Given the description of an element on the screen output the (x, y) to click on. 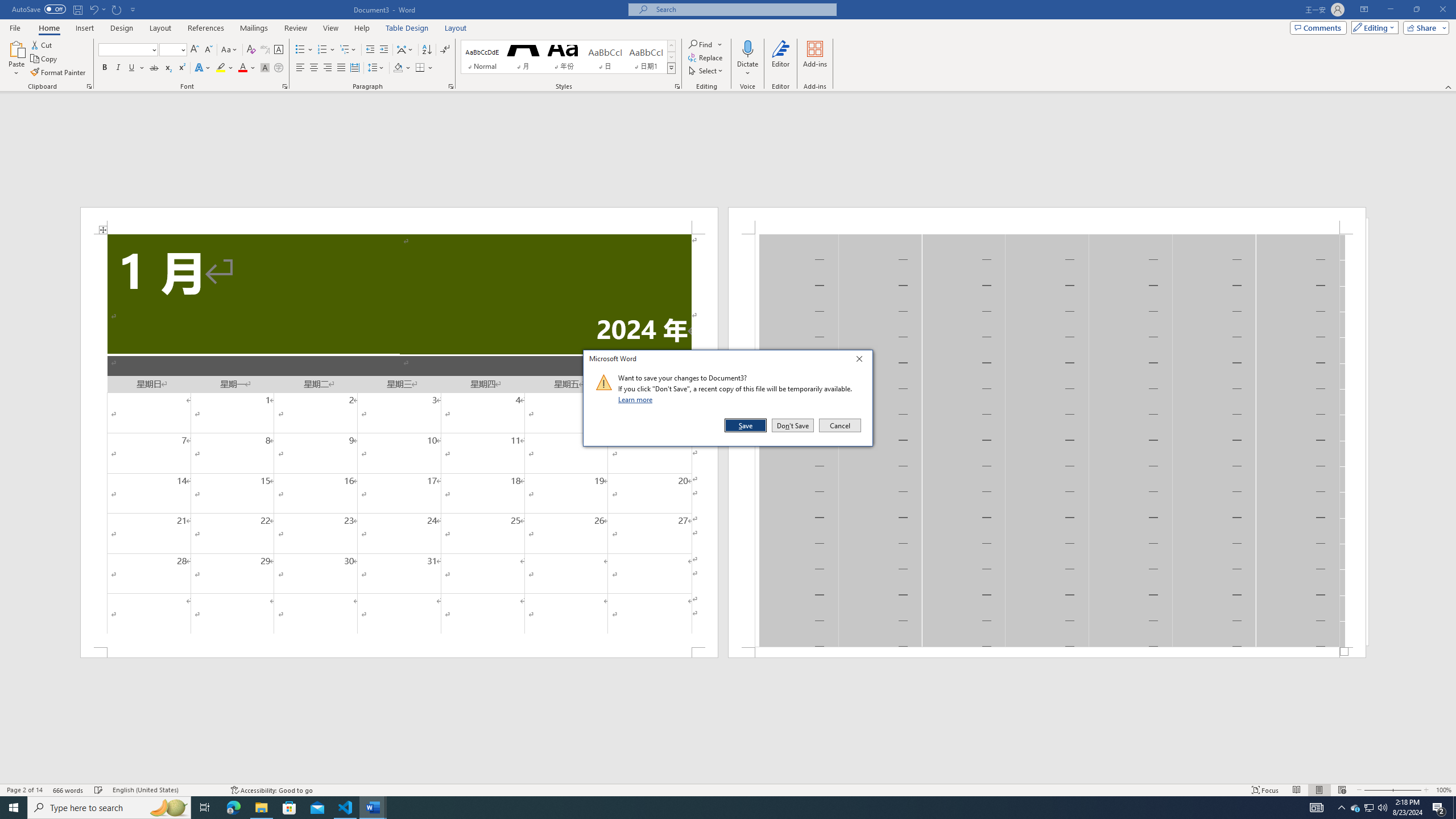
Multilevel List (347, 49)
Spelling and Grammar Check Checking (98, 790)
Character Border (1368, 807)
Phonetic Guide... (278, 49)
Line and Paragraph Spacing (264, 49)
Text Highlight Color (376, 67)
Mode (224, 67)
